Given the description of an element on the screen output the (x, y) to click on. 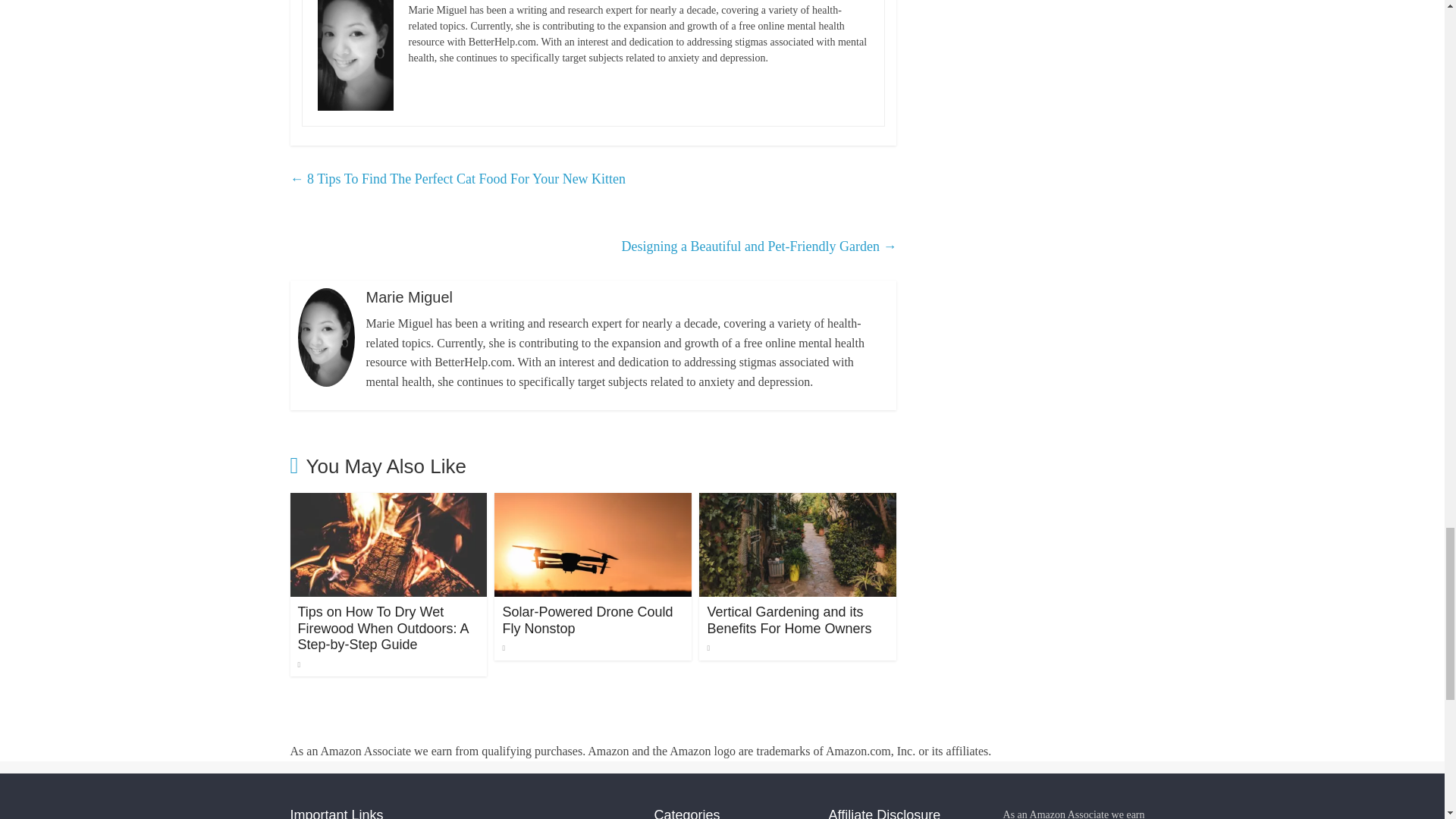
Solar-Powered Drone Could Fly Nonstop (587, 620)
Solar-Powered Drone Could Fly Nonstop (593, 502)
Vertical Gardening and its Benefits For Home Owners (788, 620)
Vertical Gardening and its Benefits For Home Owners (797, 502)
